Given the description of an element on the screen output the (x, y) to click on. 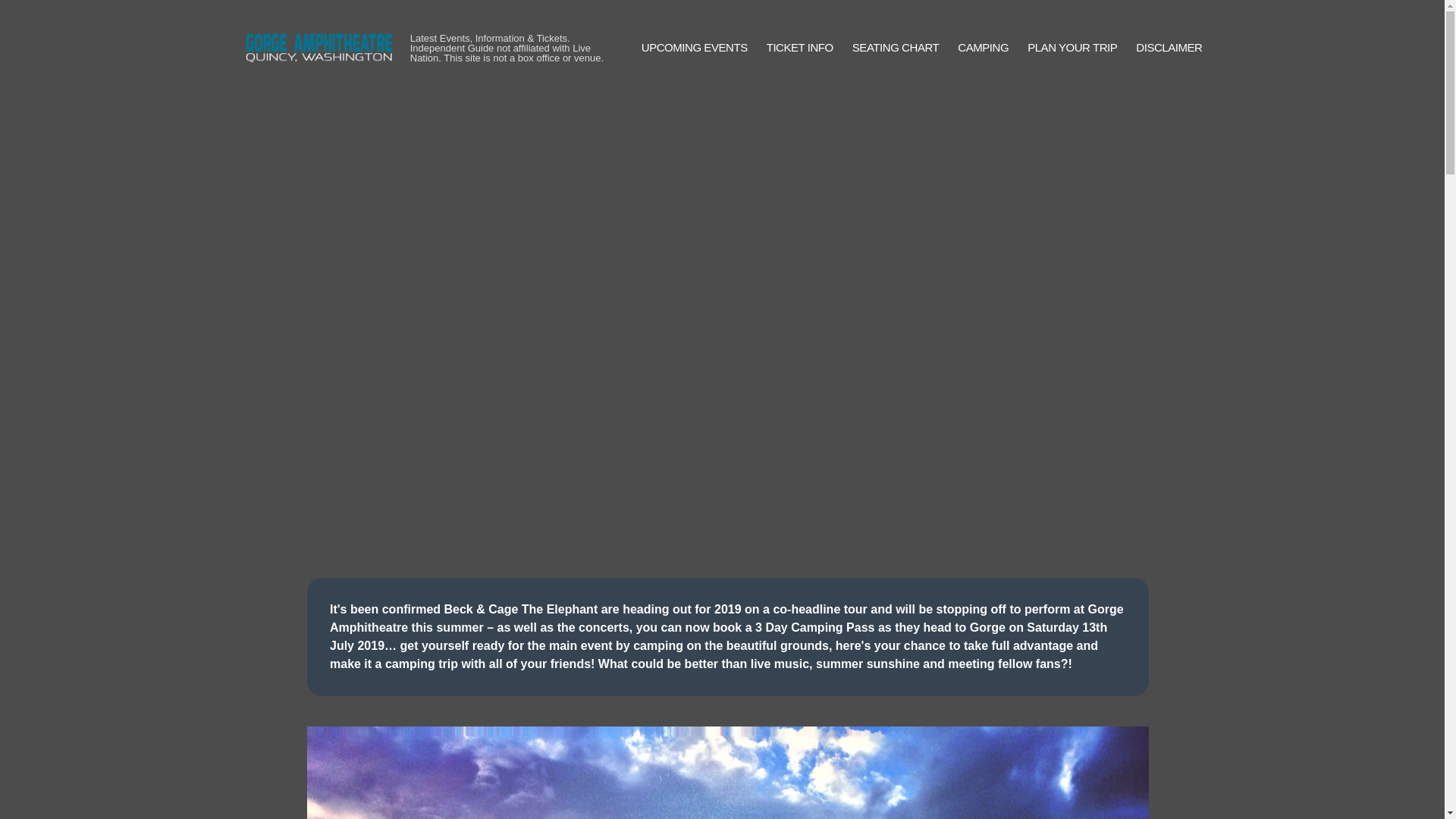
UPCOMING EVENTS (695, 47)
CAMPING (983, 47)
DISCLAIMER (1168, 47)
SEATING CHART (895, 47)
PLAN YOUR TRIP (1071, 47)
TICKET INFO (799, 47)
